Given the description of an element on the screen output the (x, y) to click on. 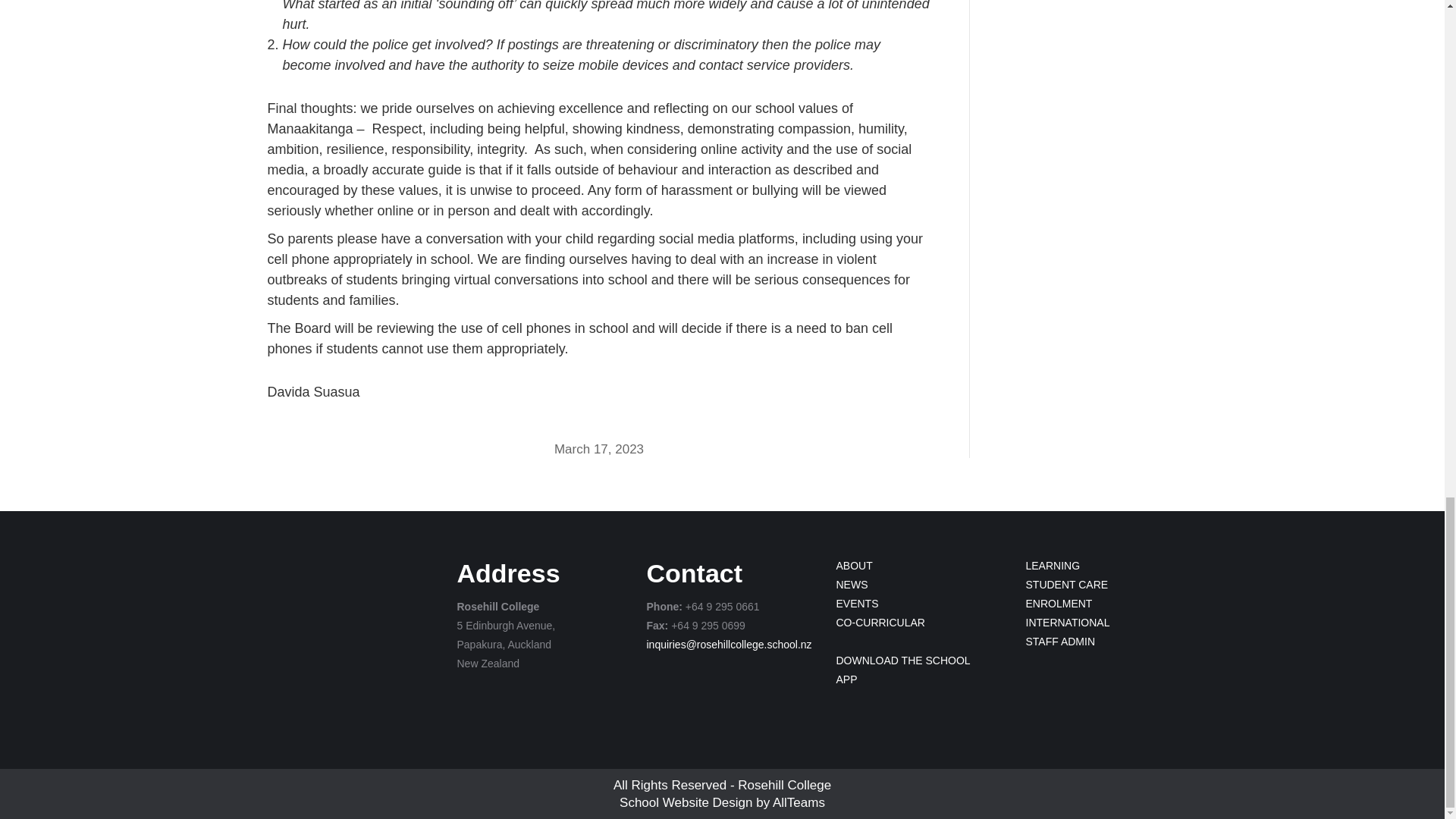
Auckland NZ Website Design, School Website Designers (686, 802)
Website Design, AllTeams (799, 802)
